Given the description of an element on the screen output the (x, y) to click on. 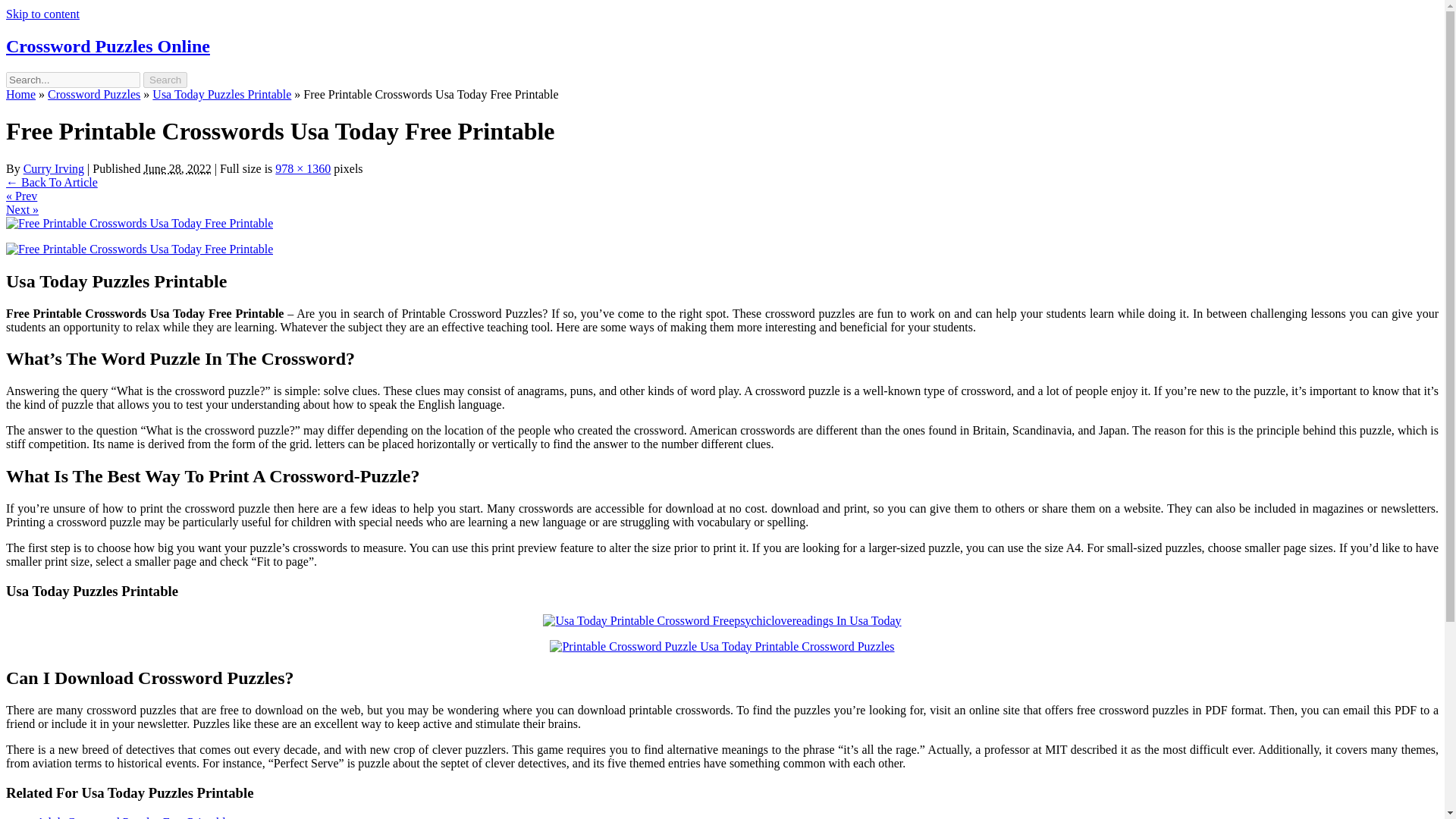
free printable crosswords usa today free printable (139, 249)
Usa Today Puzzles Printable (221, 93)
Crossword Puzzles (93, 93)
Link to full-size image (302, 168)
Free Printable Crosswords Usa Today Free Printable (139, 223)
View all posts by Curry Irving (53, 168)
Search (164, 79)
Curry Irving (53, 168)
Return to Usa Today Puzzles Printable (51, 182)
Search (164, 79)
